Given the description of an element on the screen output the (x, y) to click on. 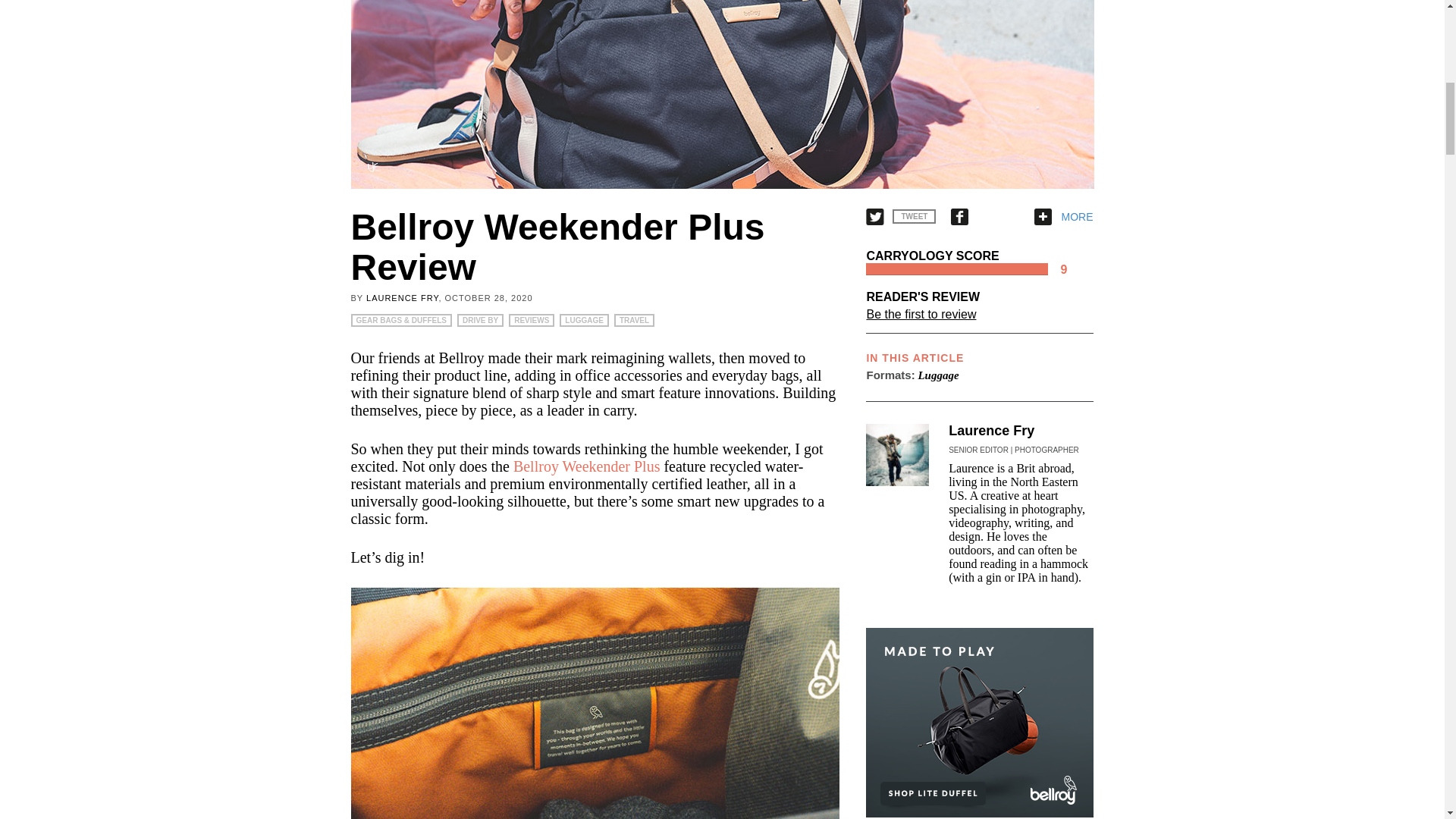
Posts by Laurence Fry (402, 297)
